Given the description of an element on the screen output the (x, y) to click on. 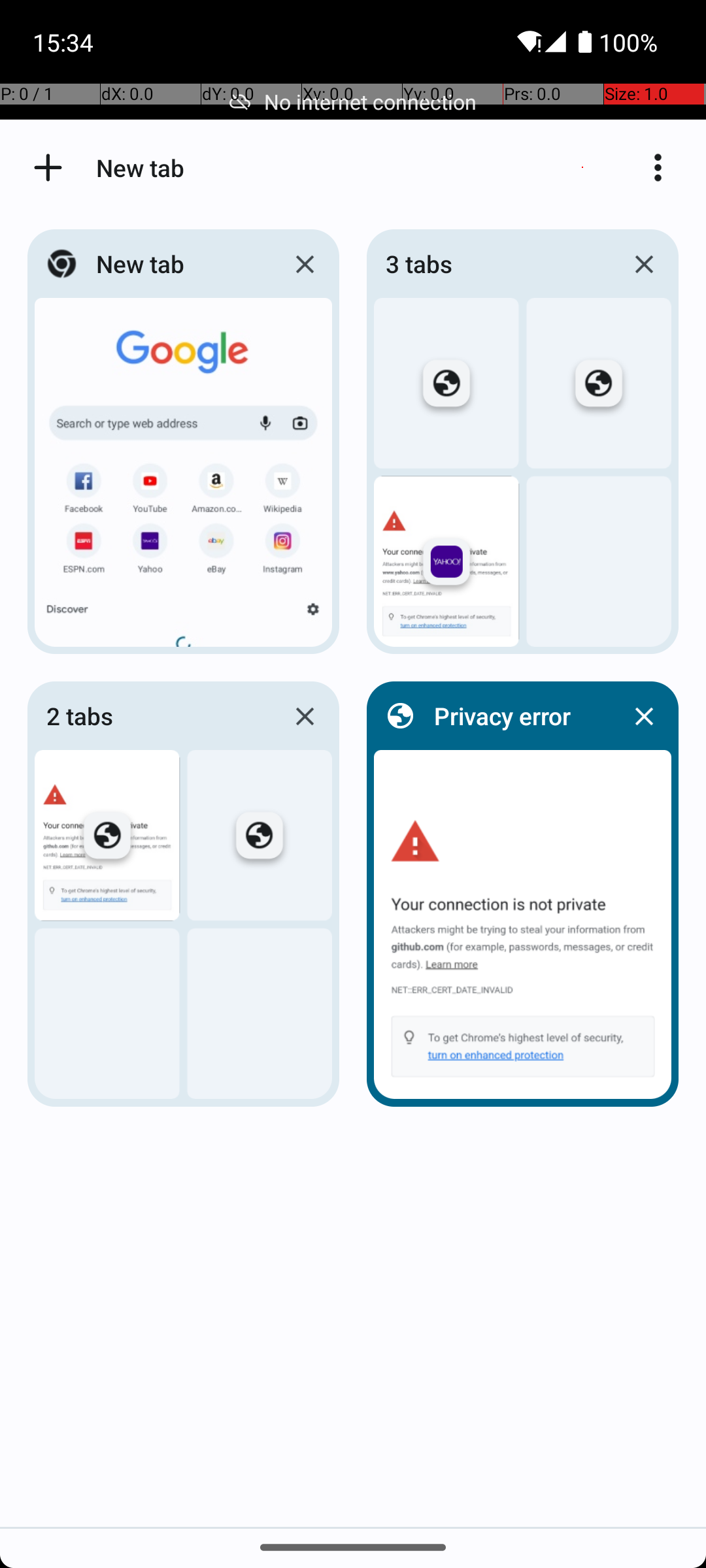
Expand tab group with 3 tabs. Element type: android.widget.FrameLayout (522, 441)
Expand tab group with 2 tabs. Element type: android.widget.FrameLayout (183, 893)
Close New tab tab Element type: android.widget.ImageView (304, 263)
3 tabs Element type: android.widget.TextView (493, 263)
Close 3 tabs tab Element type: android.widget.ImageView (643, 263)
2 tabs Element type: android.widget.TextView (154, 715)
Close 2 tabs tab Element type: android.widget.ImageView (304, 715)
Close Privacy error tab Element type: android.widget.ImageView (643, 715)
